Given the description of an element on the screen output the (x, y) to click on. 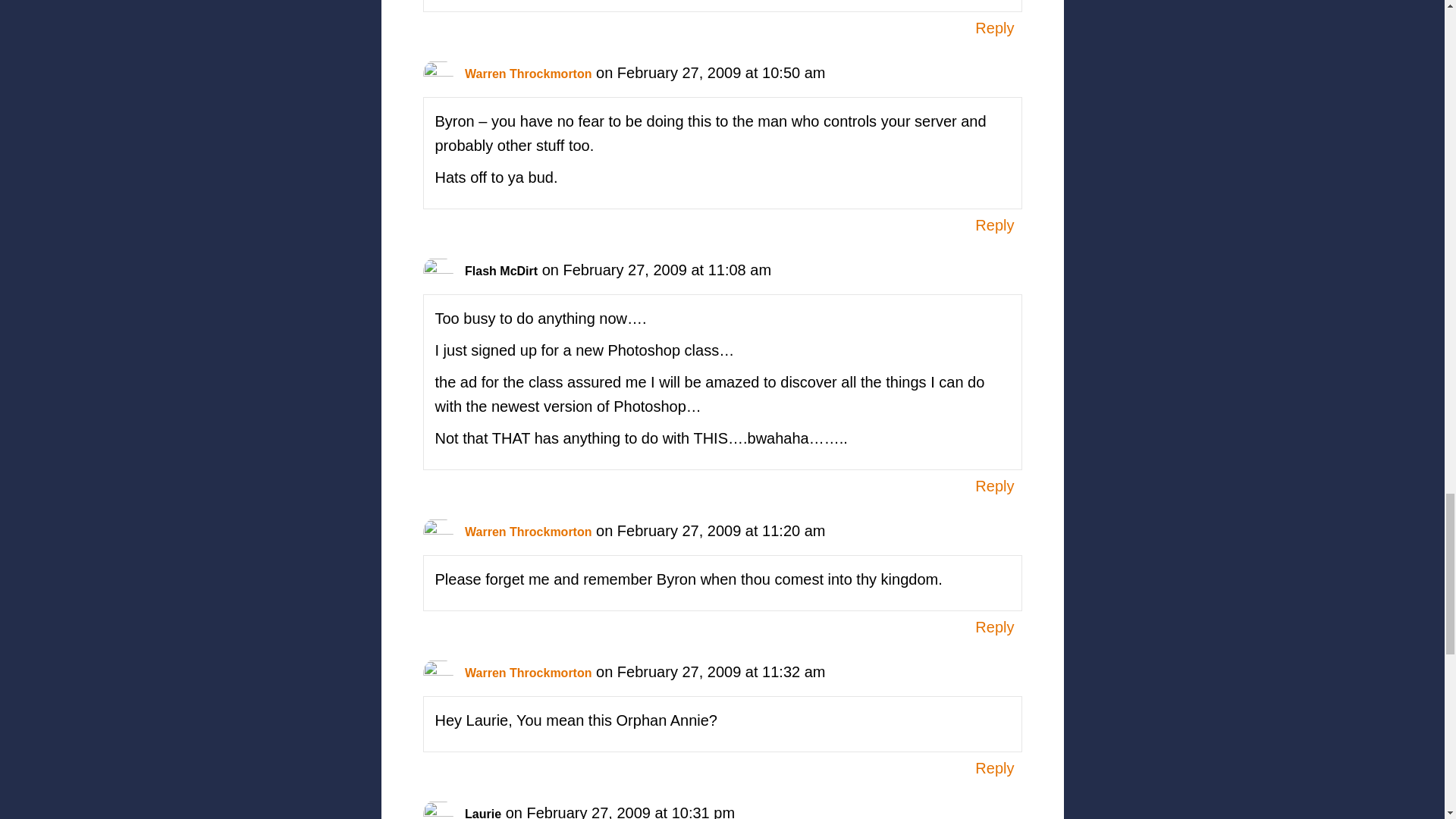
Reply (994, 627)
Reply (994, 767)
Warren Throckmorton (527, 672)
Reply (994, 485)
Warren Throckmorton (527, 531)
Reply (994, 27)
Warren Throckmorton (527, 73)
Reply (994, 224)
